Given the description of an element on the screen output the (x, y) to click on. 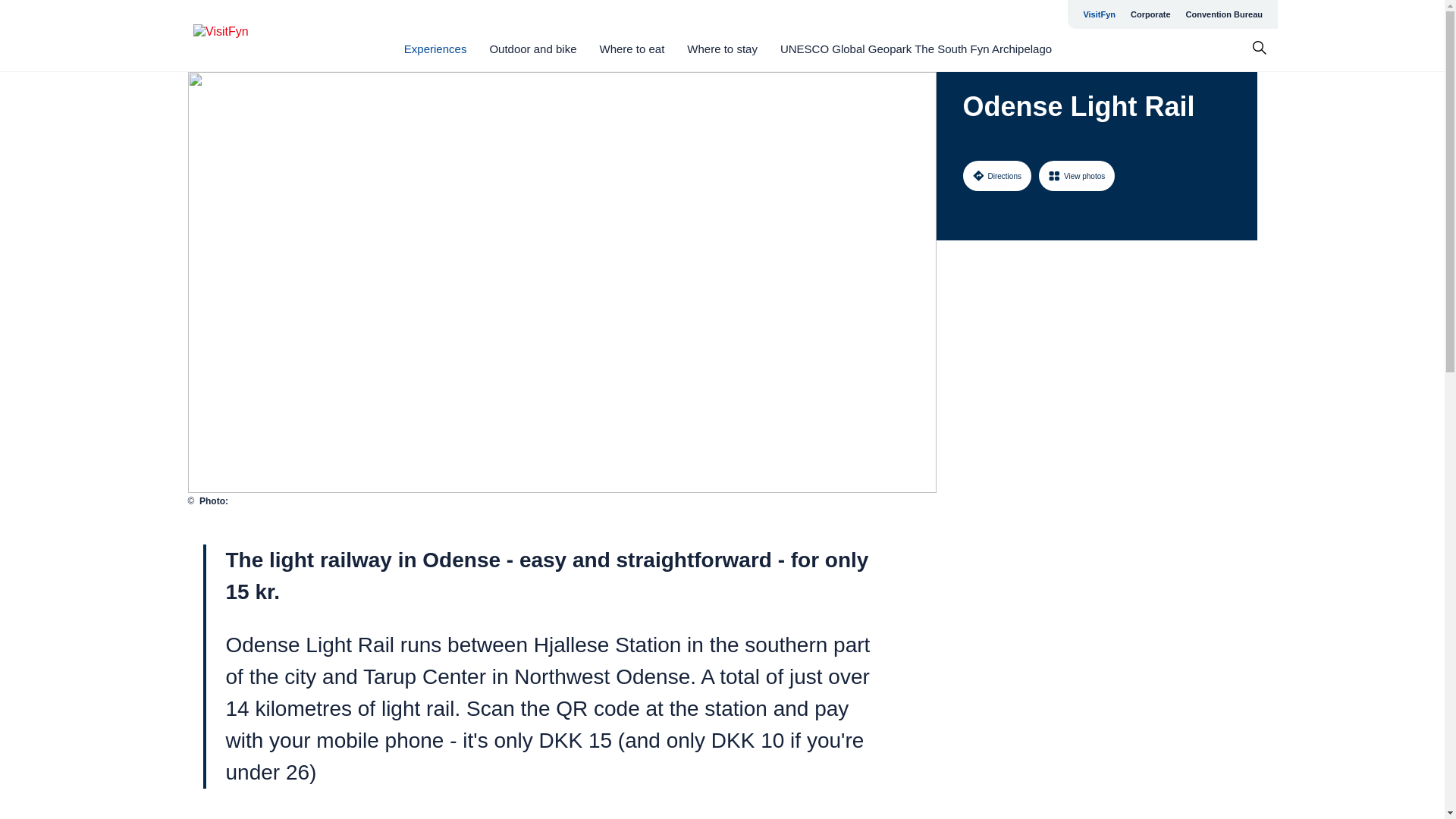
View photos (1077, 175)
Convention Bureau (1223, 14)
Outdoor and bike (532, 48)
UNESCO Global Geopark The South Fyn Archipelago (915, 48)
Experiences (435, 48)
Corporate (1149, 14)
VisitFyn (1098, 14)
Where to stay (722, 48)
Go to homepage (253, 35)
Where to eat (630, 48)
